Given the description of an element on the screen output the (x, y) to click on. 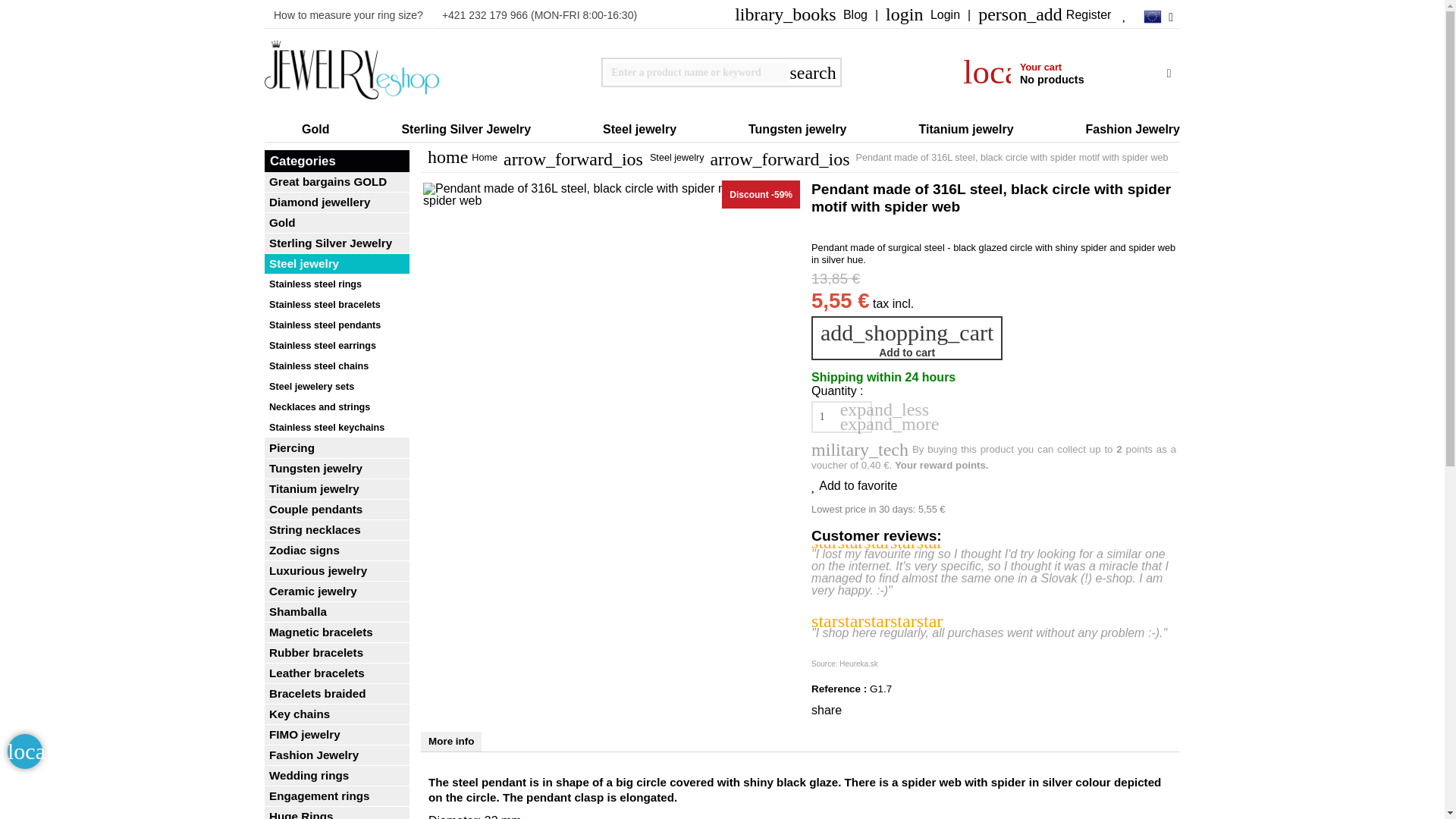
login Login (922, 15)
Gold (296, 128)
How to measure your ring size? (348, 14)
Enter a product name or keyword (698, 72)
Jewellery Eshop EU (351, 72)
Sterling Silver Jewelry (447, 128)
